Given the description of an element on the screen output the (x, y) to click on. 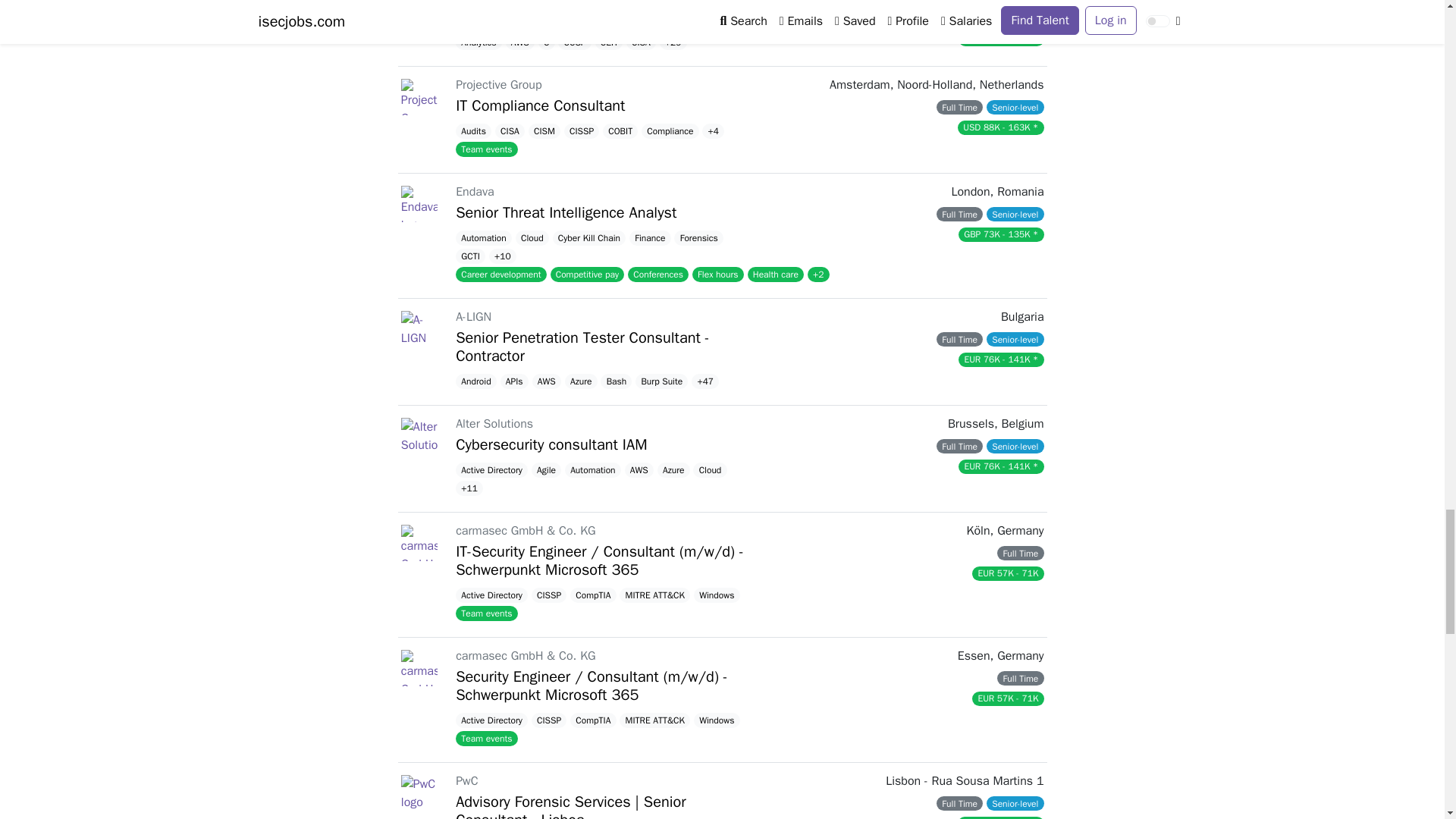
All open positions at A-LIGN (419, 329)
All open positions at Projective Group (419, 96)
View details for this job (749, 352)
View details for this job (749, 31)
All open positions at Alter Solutions (419, 435)
All open positions at Endava (419, 203)
View details for this job (749, 235)
All open positions at Sia Partners (419, 13)
View details for this job (749, 119)
